Given the description of an element on the screen output the (x, y) to click on. 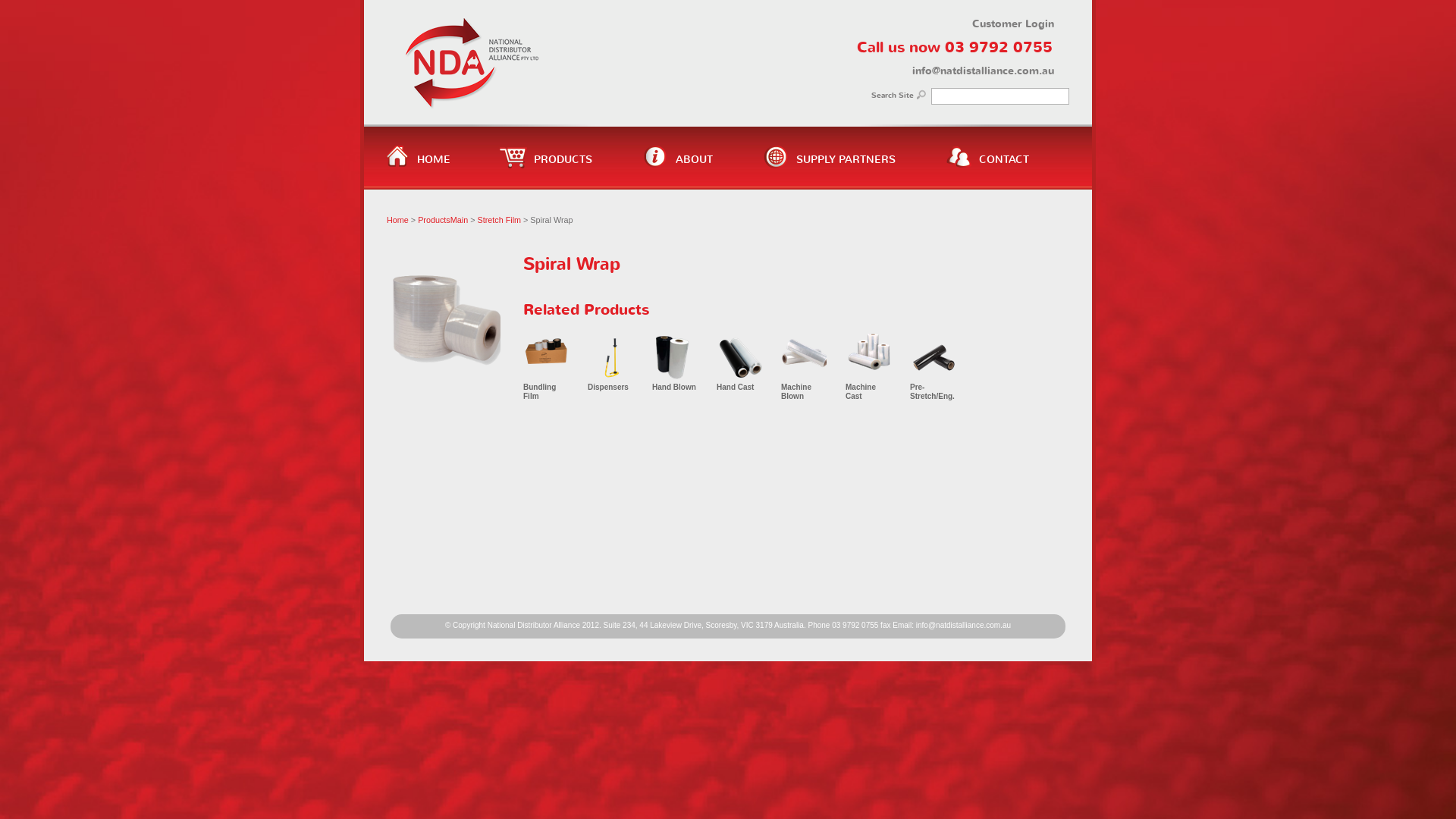
SUPPLY PARTNERS Element type: text (834, 174)
Stretch Film Element type: text (498, 219)
info@natdistalliance.com.au Element type: text (963, 625)
Dispensers Element type: text (607, 386)
ProductsMain Element type: text (442, 219)
PRODUCTS Element type: text (551, 174)
Hand Cast Element type: text (734, 386)
HOME Element type: text (422, 174)
Machine Blown Element type: text (796, 391)
Customer Login Element type: text (1013, 23)
Pre-Stretch/Eng. Element type: text (932, 391)
Bundling Film Element type: text (539, 391)
Hand Blown Element type: text (674, 386)
Home Element type: text (397, 219)
info@natdistalliance.com.au Element type: text (983, 70)
ABOUT Element type: text (682, 174)
CONTACT Element type: text (992, 174)
Machine Cast Element type: text (860, 391)
